Given the description of an element on the screen output the (x, y) to click on. 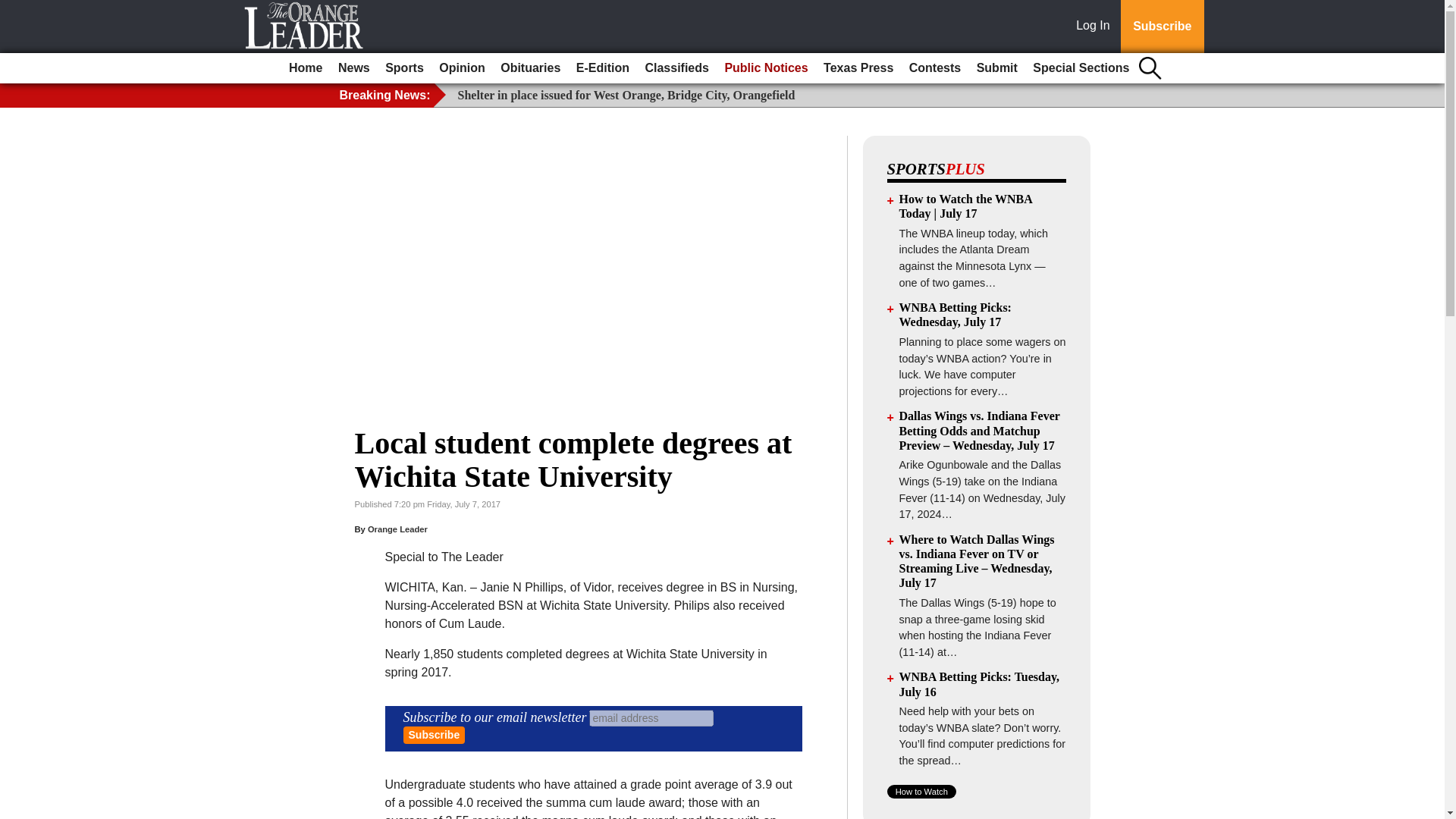
Subscribe (434, 734)
Go (13, 9)
Log In (1095, 26)
Opinion (461, 68)
Public Notices (765, 68)
Home (305, 68)
WNBA Betting Picks: Wednesday, July 17 (955, 314)
Orange Leader (398, 528)
E-Edition (602, 68)
Submit (997, 68)
Subscribe (1162, 26)
Contests (934, 68)
Obituaries (530, 68)
